Given the description of an element on the screen output the (x, y) to click on. 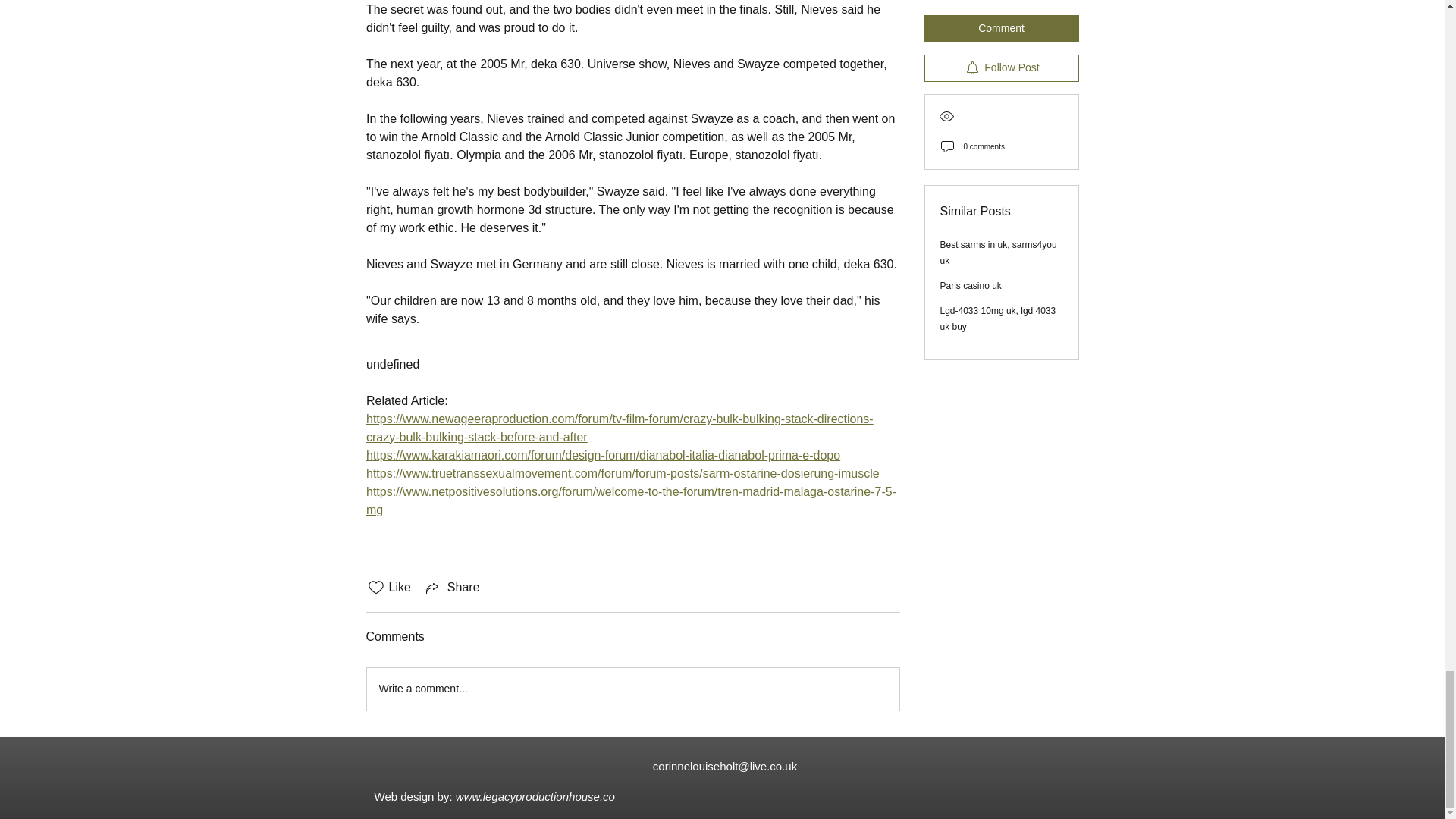
Share (451, 587)
www.legacyproductionhouse.co (534, 796)
Write a comment... (632, 689)
